Given the description of an element on the screen output the (x, y) to click on. 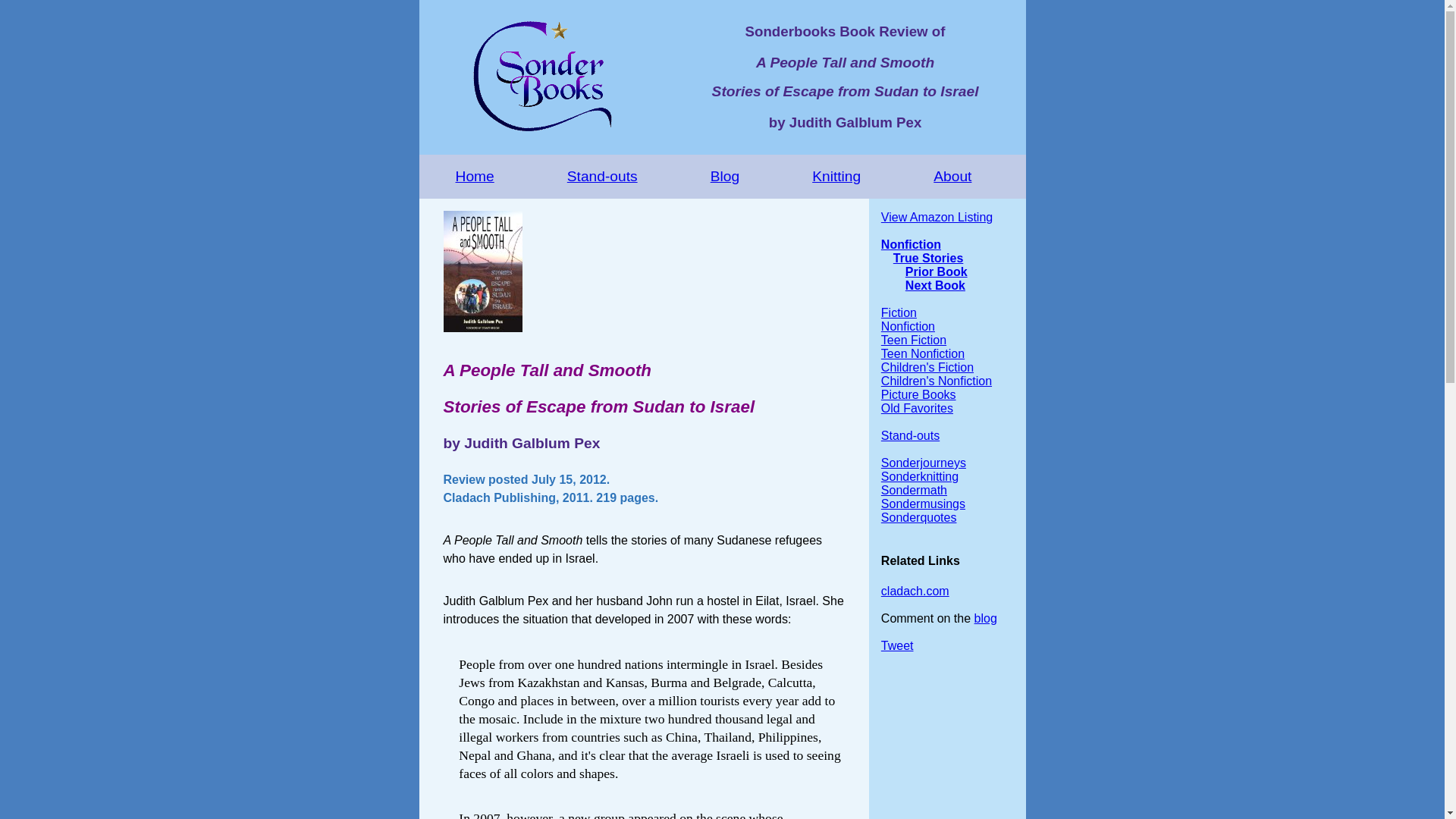
Teen Nonfiction (921, 353)
Prior Book (936, 271)
Knitting (836, 176)
blog (985, 617)
Old Favorites (916, 408)
Children's Nonfiction (935, 380)
Sonderjourneys (923, 462)
Sondermusings (922, 503)
Stand-outs (602, 176)
Nonfiction (910, 244)
Tweet (897, 645)
Children's Fiction (927, 367)
About (952, 176)
Sonderknitting (919, 476)
True Stories (927, 257)
